Given the description of an element on the screen output the (x, y) to click on. 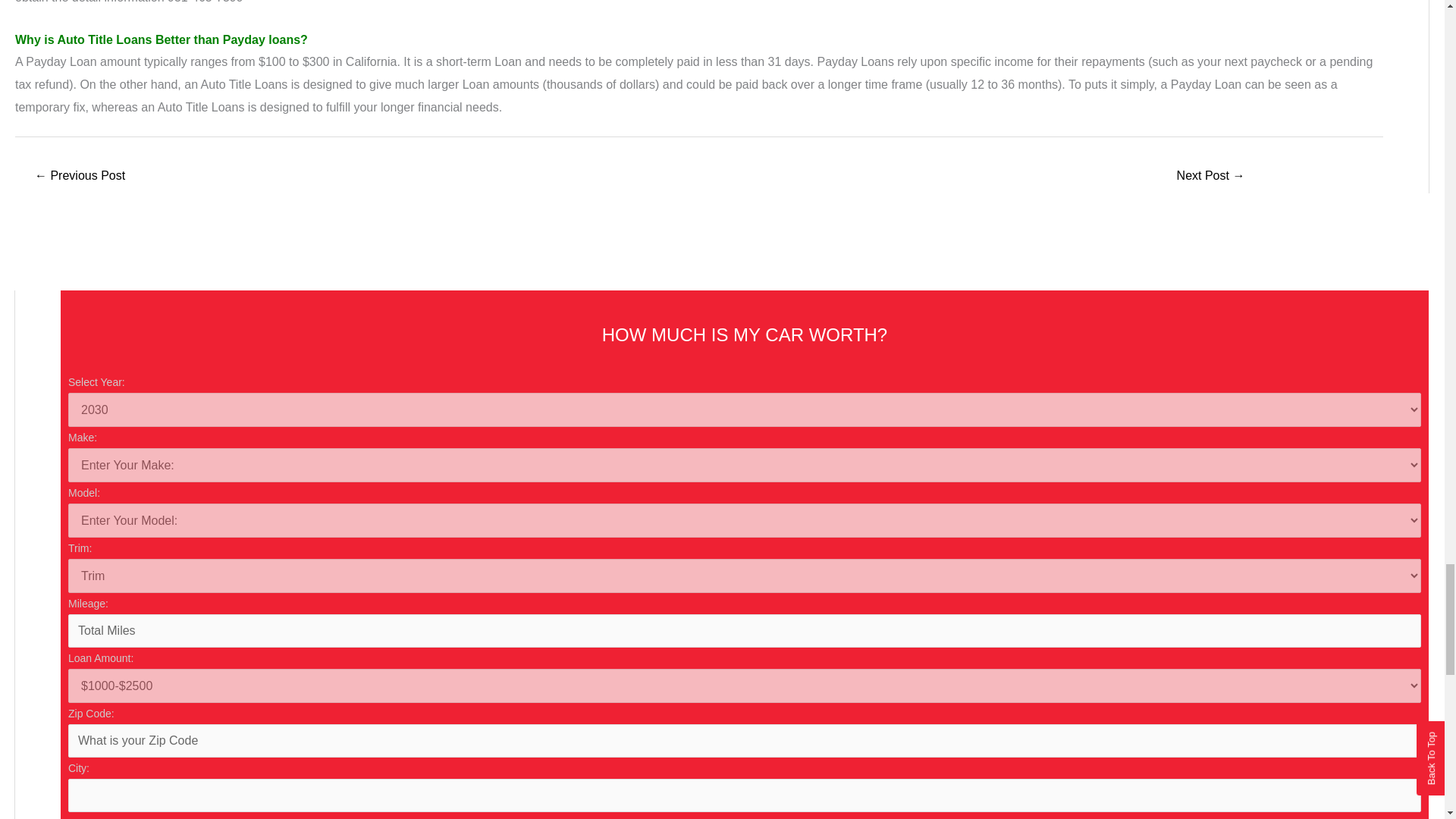
Car and Auto Title Loans Barstow CA (1210, 176)
Car and Auto Title Loans Malibu CA (79, 176)
Total Miles (744, 630)
What is your Zip Code (744, 740)
